Given the description of an element on the screen output the (x, y) to click on. 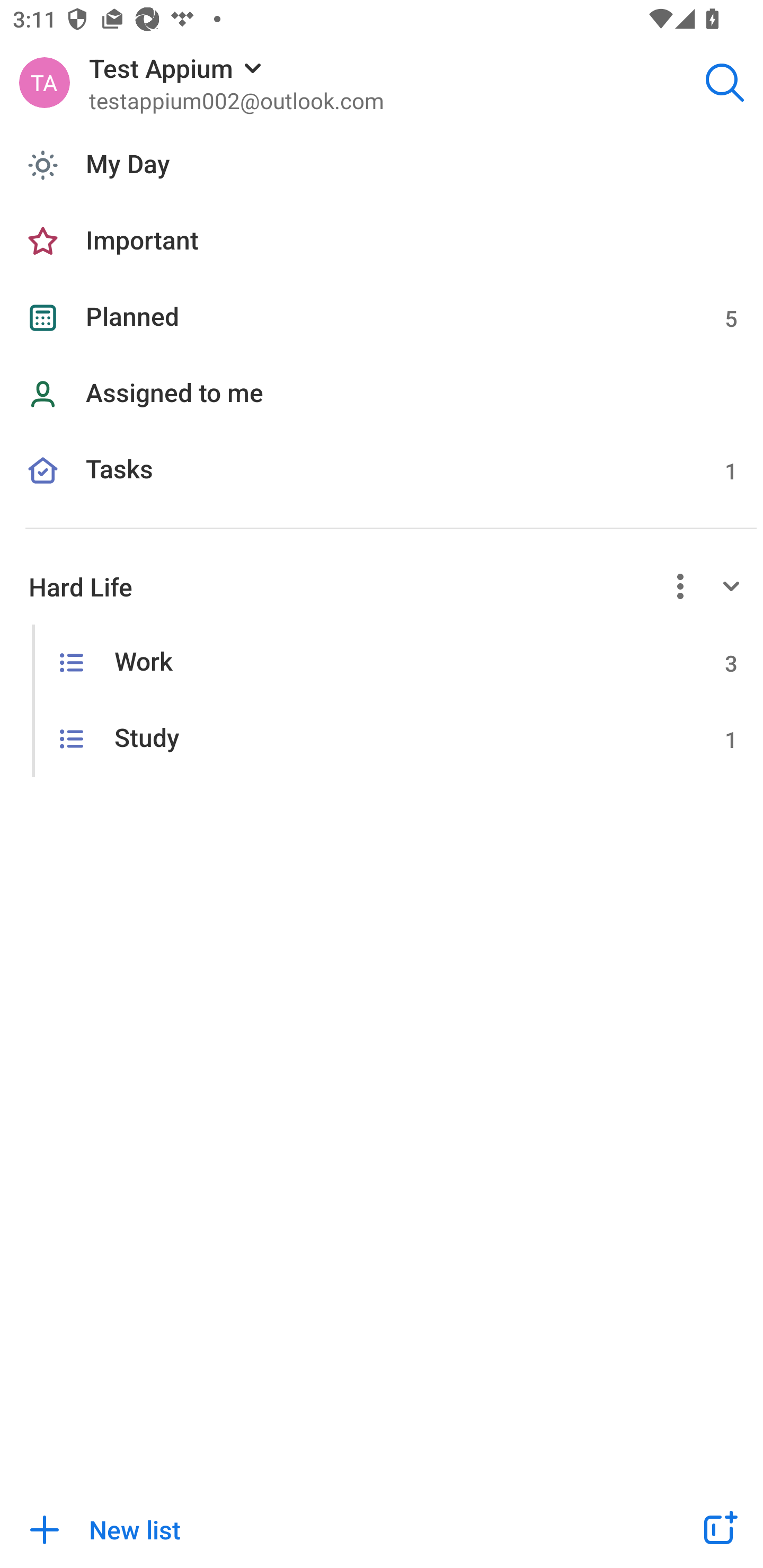
My Day, 0 tasks My Day (381, 165)
